Given the description of an element on the screen output the (x, y) to click on. 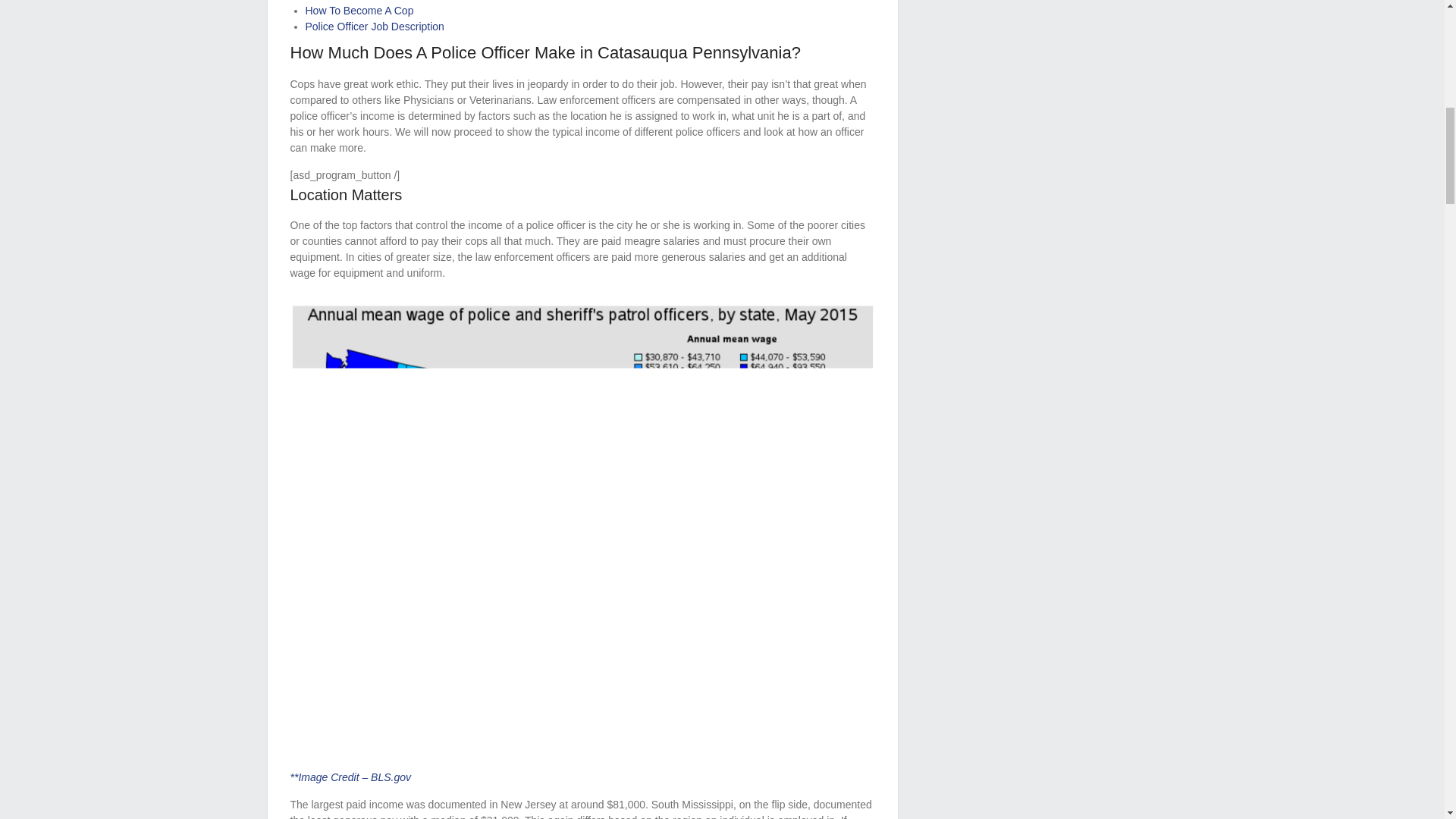
Police Officer Job Description (374, 26)
How To Become A Cop (358, 10)
